Given the description of an element on the screen output the (x, y) to click on. 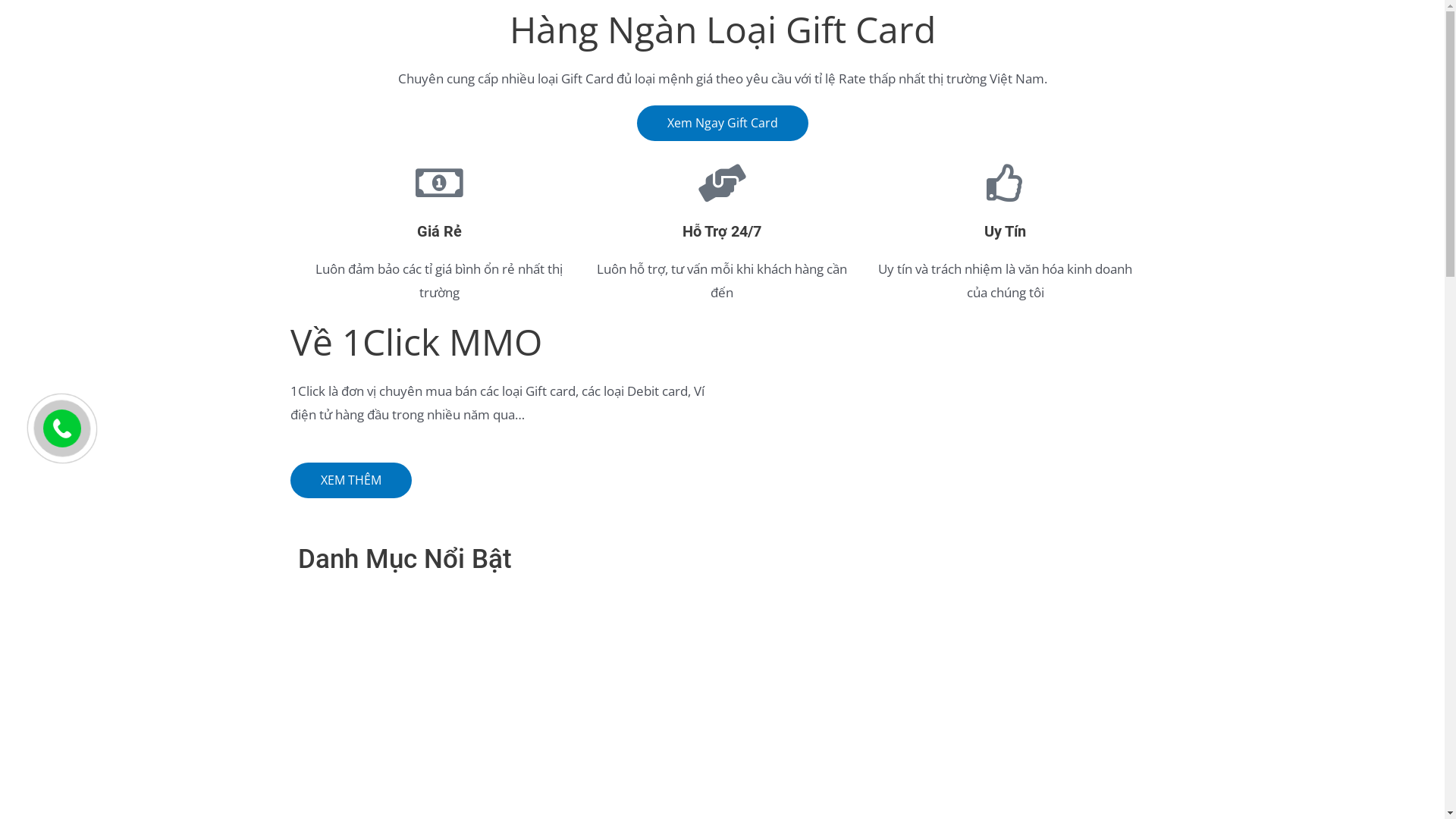
Call Now Element type: hover (62, 428)
Xem Ngay Gift Card Element type: text (722, 123)
